Given the description of an element on the screen output the (x, y) to click on. 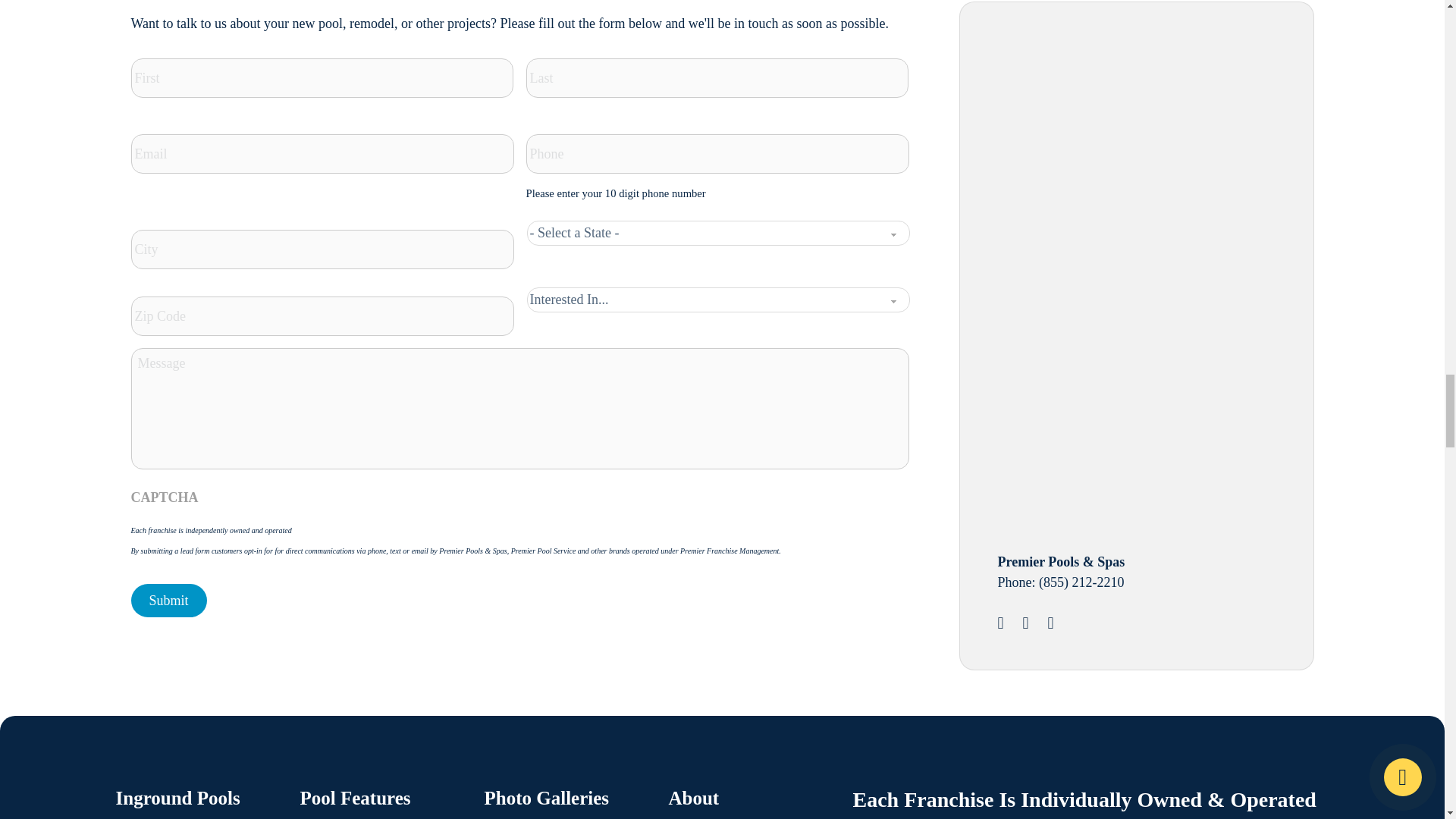
Design Your Pool (1111, 141)
Pool Financing (1111, 395)
Submit (168, 600)
